Given the description of an element on the screen output the (x, y) to click on. 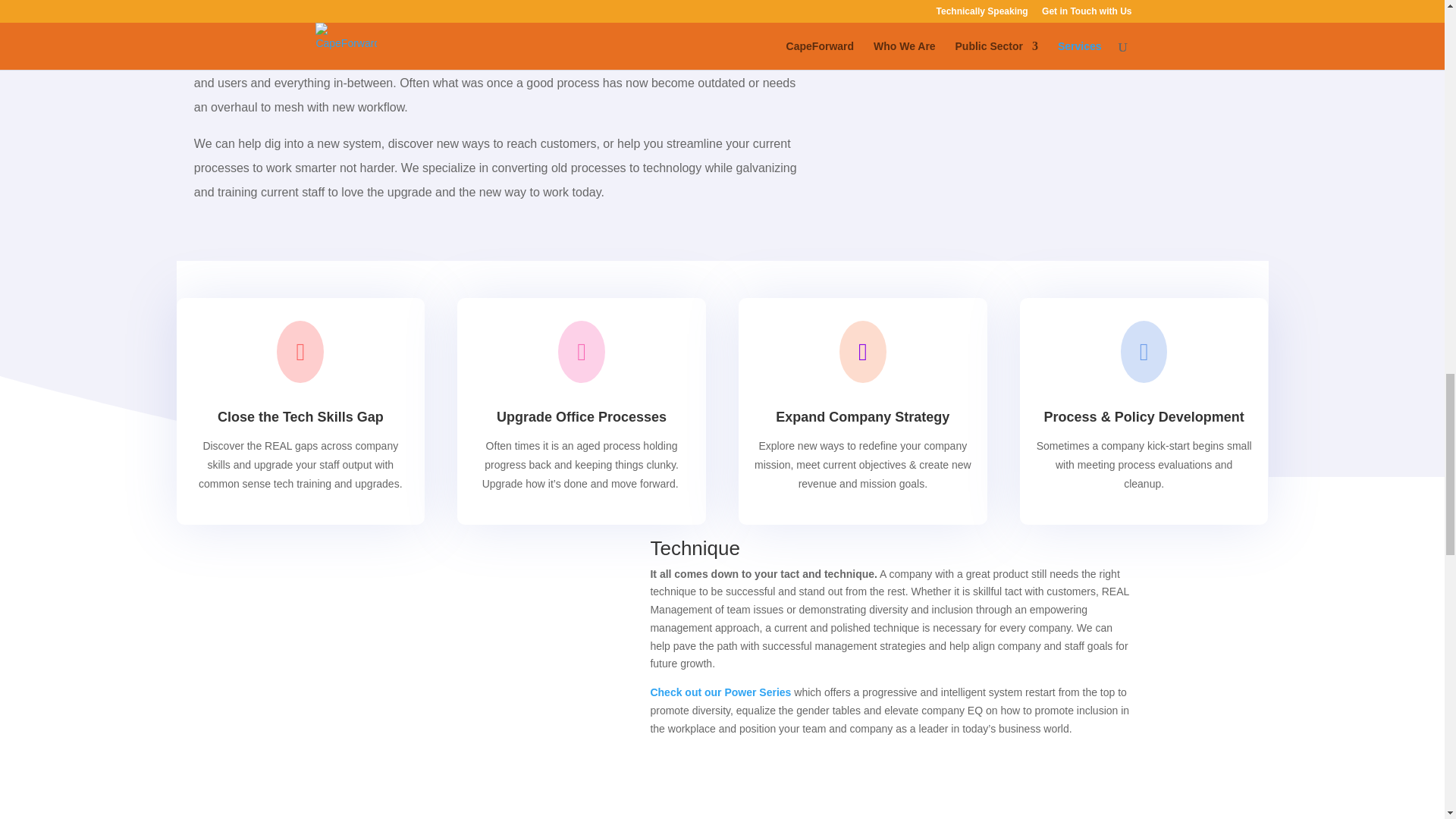
Check out our Power Series (721, 692)
